Given the description of an element on the screen output the (x, y) to click on. 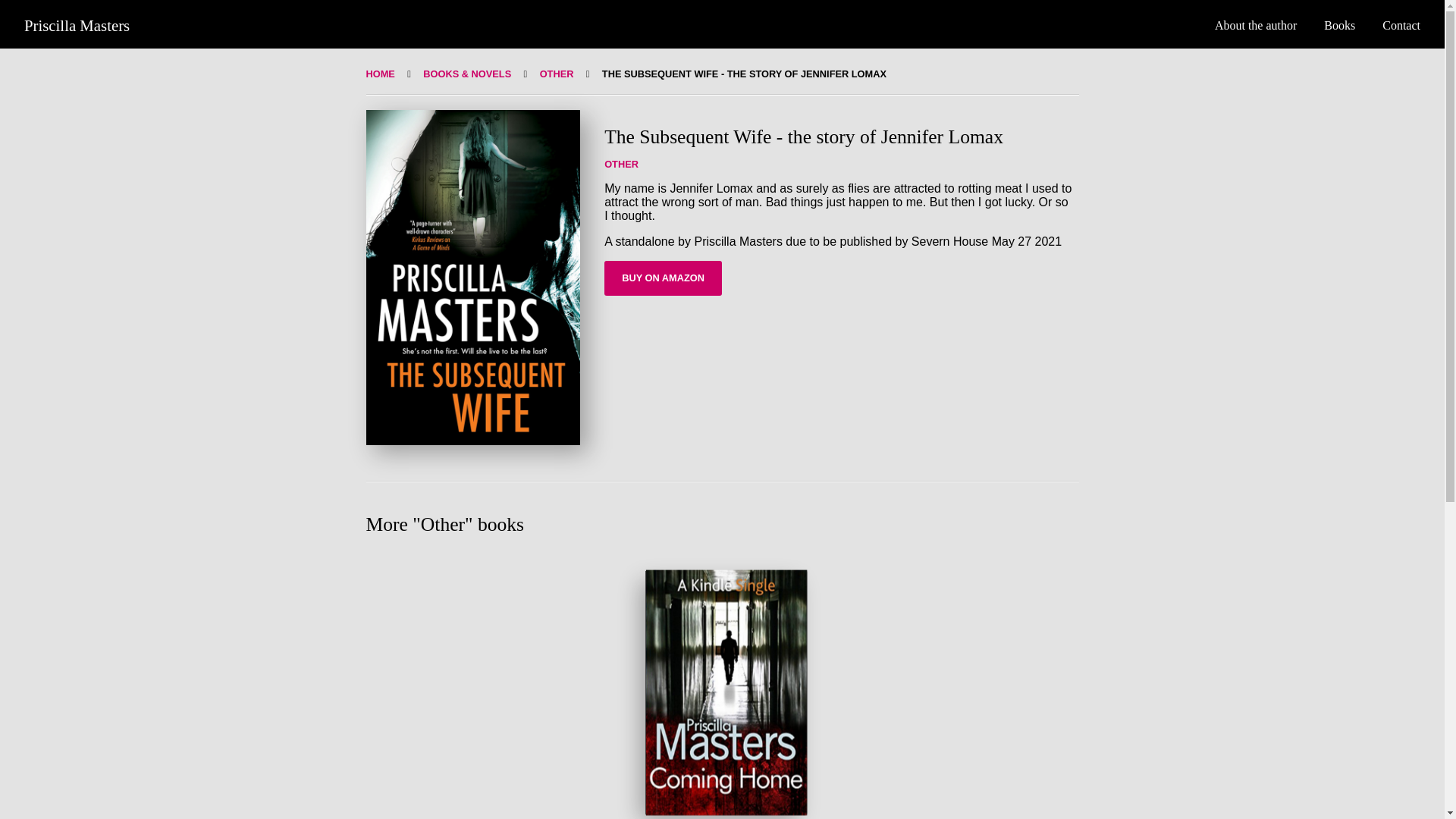
OTHER (621, 163)
HOME (379, 73)
About the author (1255, 24)
OTHER (556, 73)
Priscilla Masters (76, 25)
Books (1339, 24)
BUY ON AMAZON (663, 278)
Contact (1401, 24)
